Given the description of an element on the screen output the (x, y) to click on. 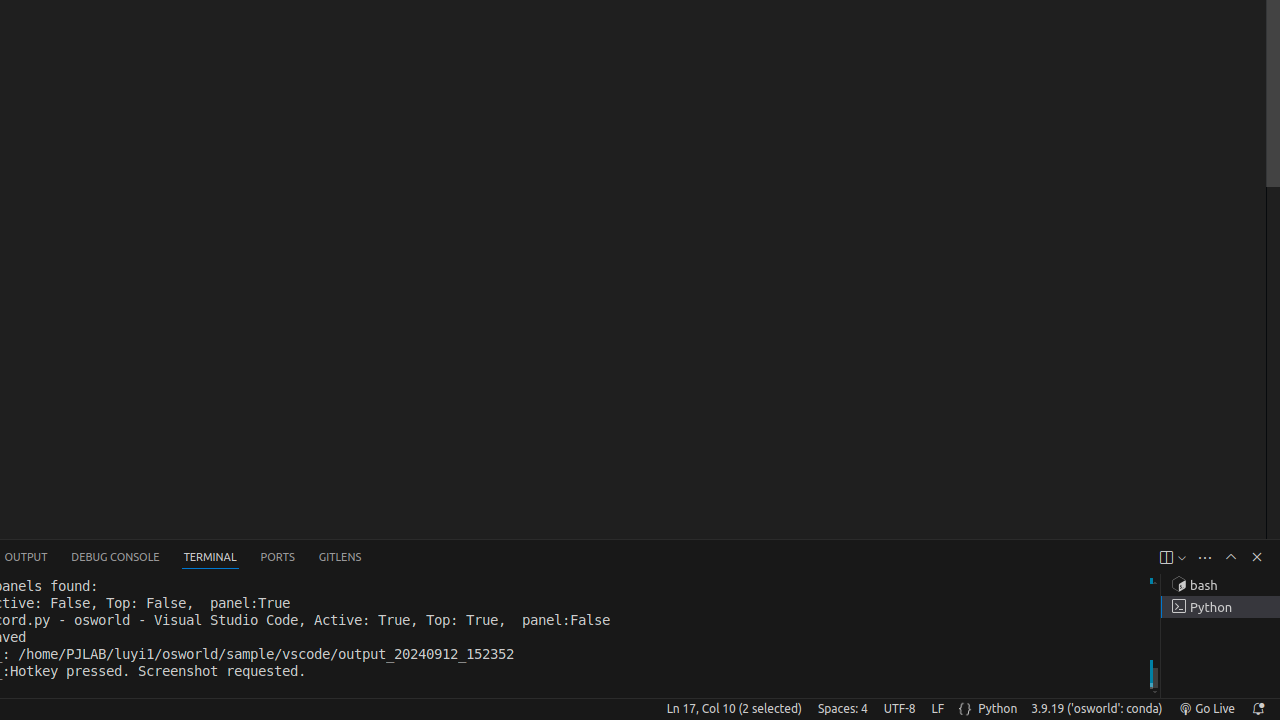
Editor Language Status: Auto Import Completions: false Element type: push-button (965, 709)
Terminal 1 bash Element type: list-item (1220, 585)
Debug Console (Ctrl+Shift+Y) Element type: page-tab (115, 557)
Notifications Element type: push-button (1258, 709)
Terminal 5 Python Element type: list-item (1220, 607)
